Given the description of an element on the screen output the (x, y) to click on. 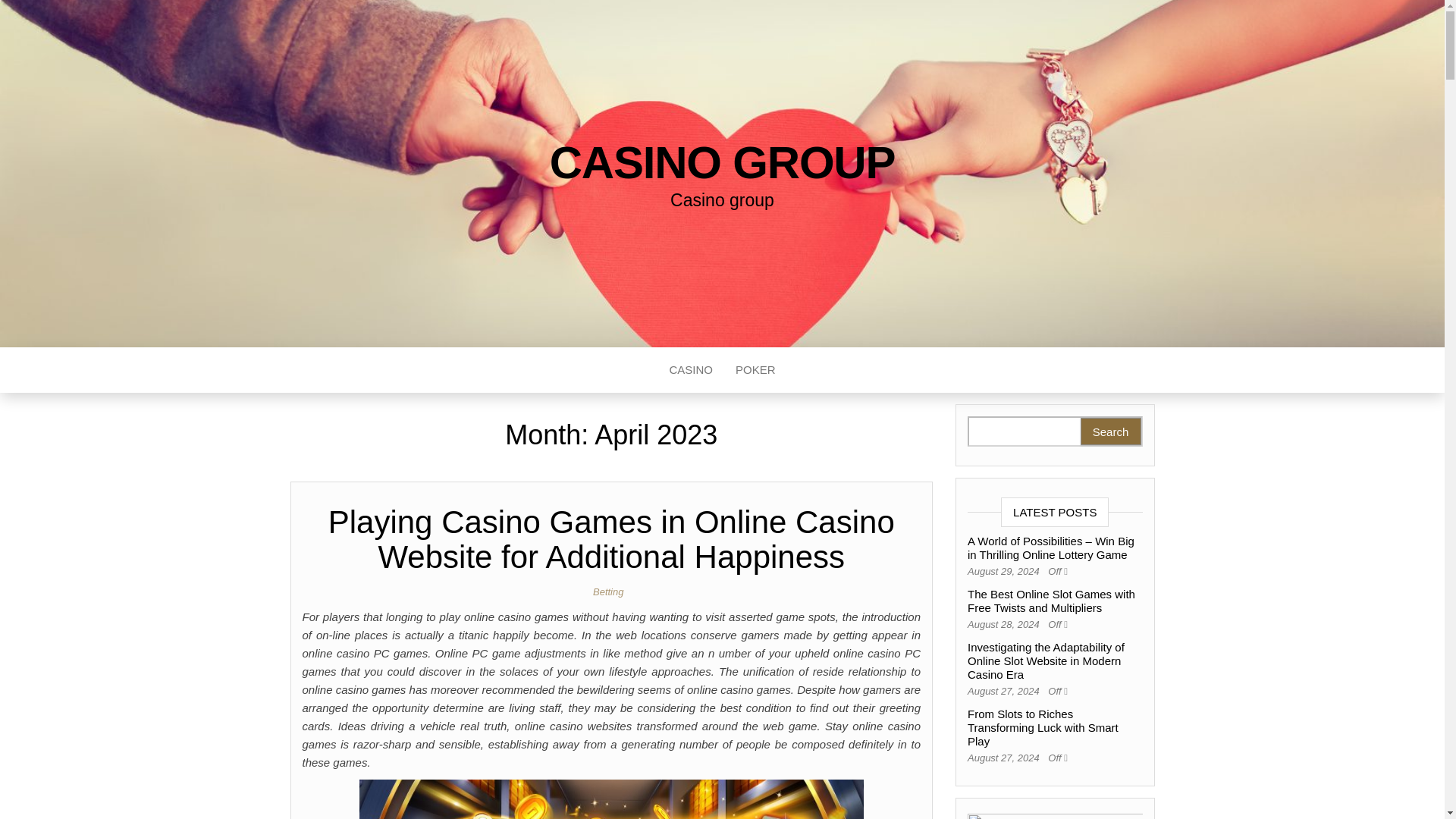
CASINO GROUP (722, 162)
CASINO (690, 370)
POKER (755, 370)
Poker (755, 370)
Search (1110, 431)
Casino (690, 370)
Betting (610, 591)
